Given the description of an element on the screen output the (x, y) to click on. 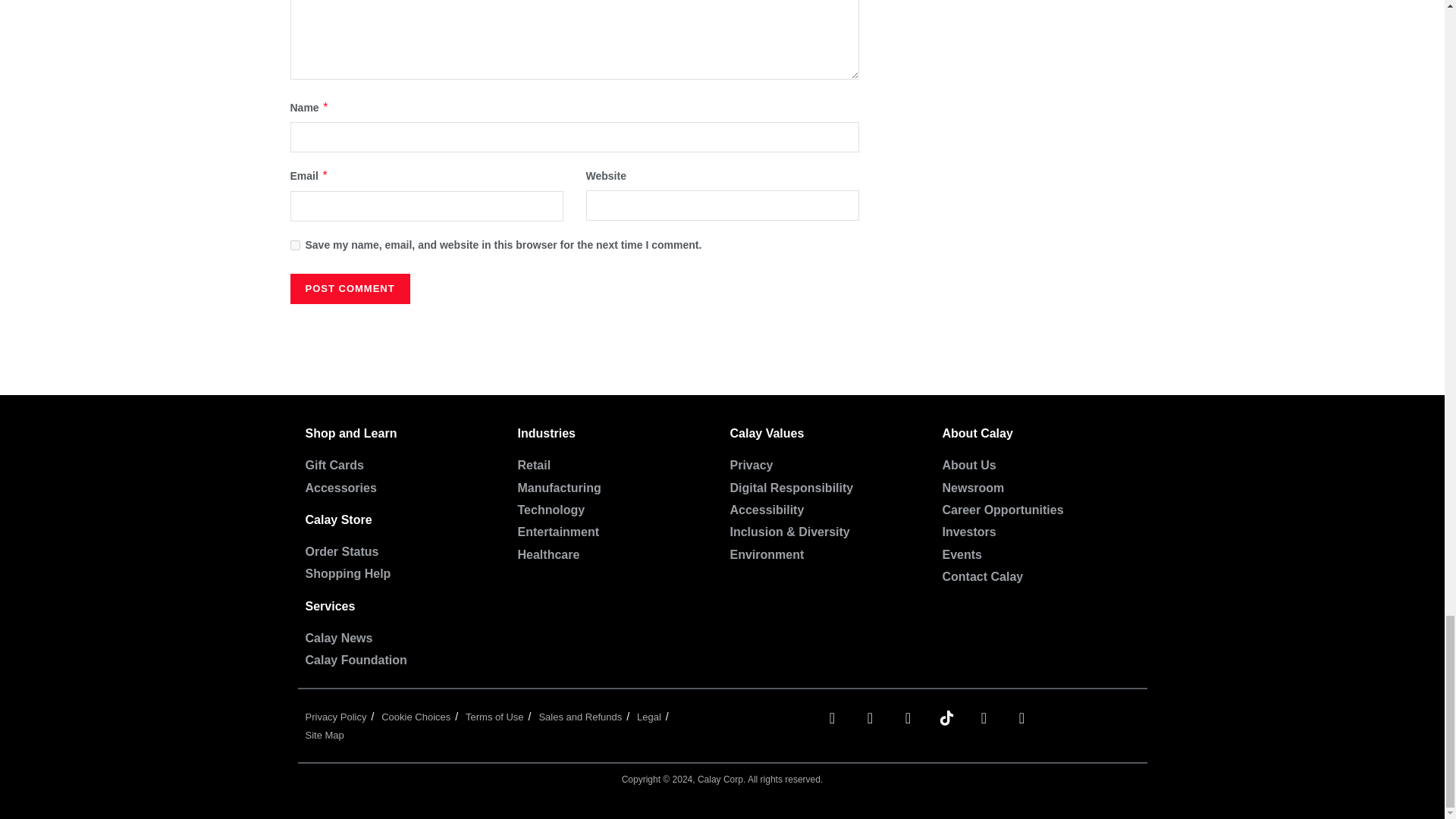
Post Comment (349, 288)
yes (294, 245)
